Given the description of an element on the screen output the (x, y) to click on. 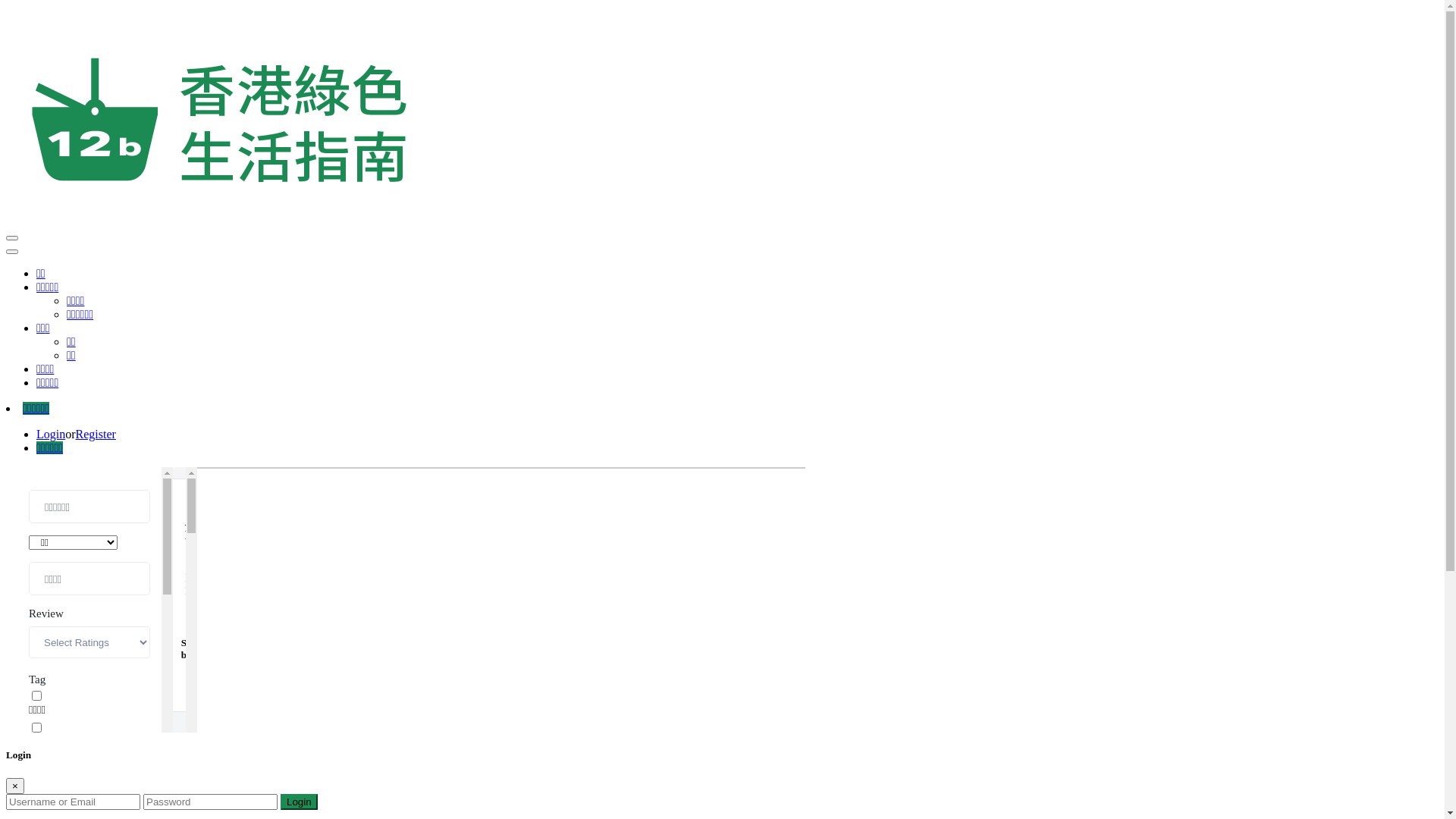
Register Element type: text (95, 433)
Login Element type: text (50, 433)
Login Element type: text (298, 801)
